Given the description of an element on the screen output the (x, y) to click on. 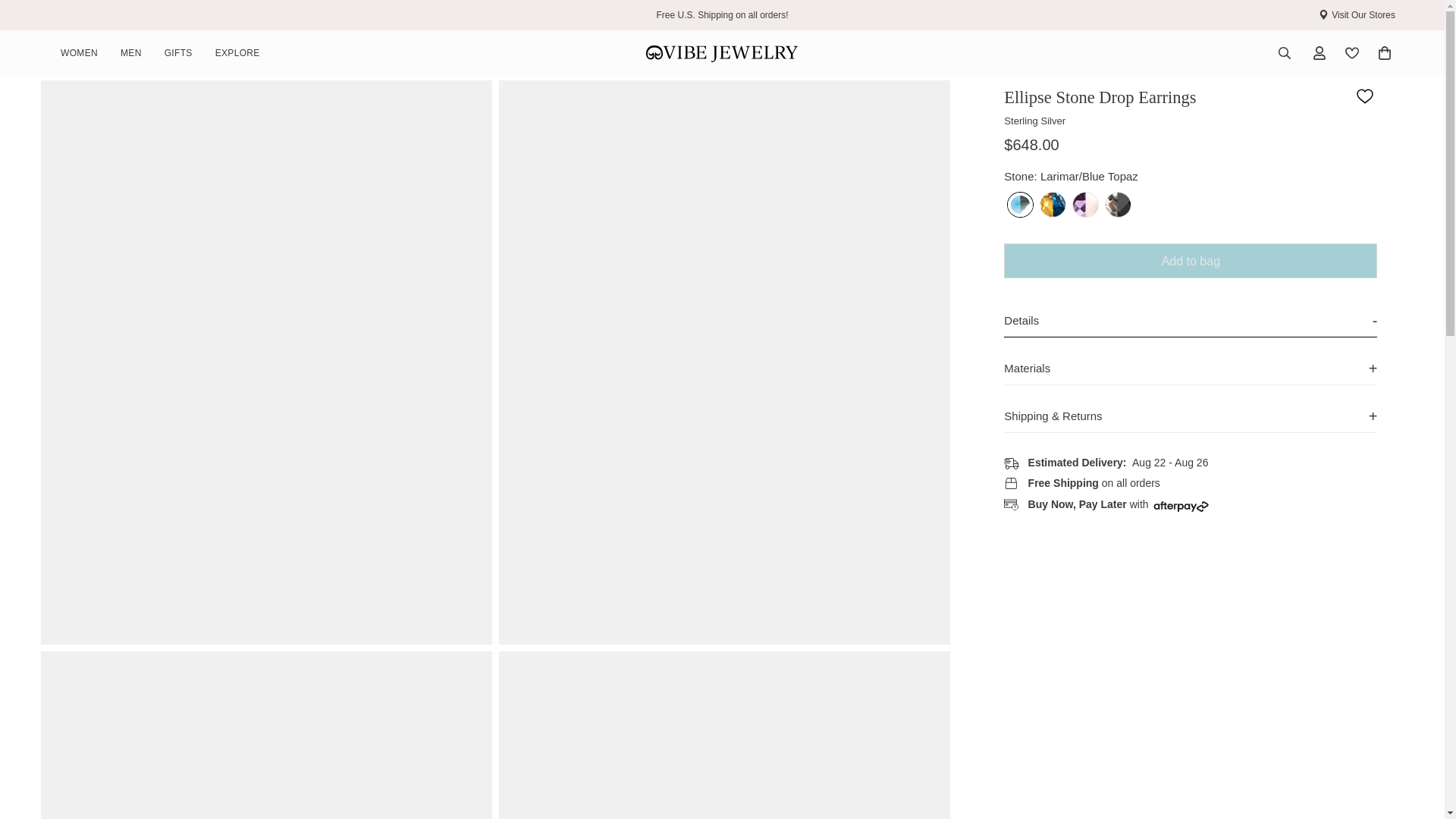
Shipping Policy (721, 14)
Free U.S. Shipping on all orders! (329, 53)
Vibe Jewelry (721, 14)
Visit Our Stores (721, 52)
